Given the description of an element on the screen output the (x, y) to click on. 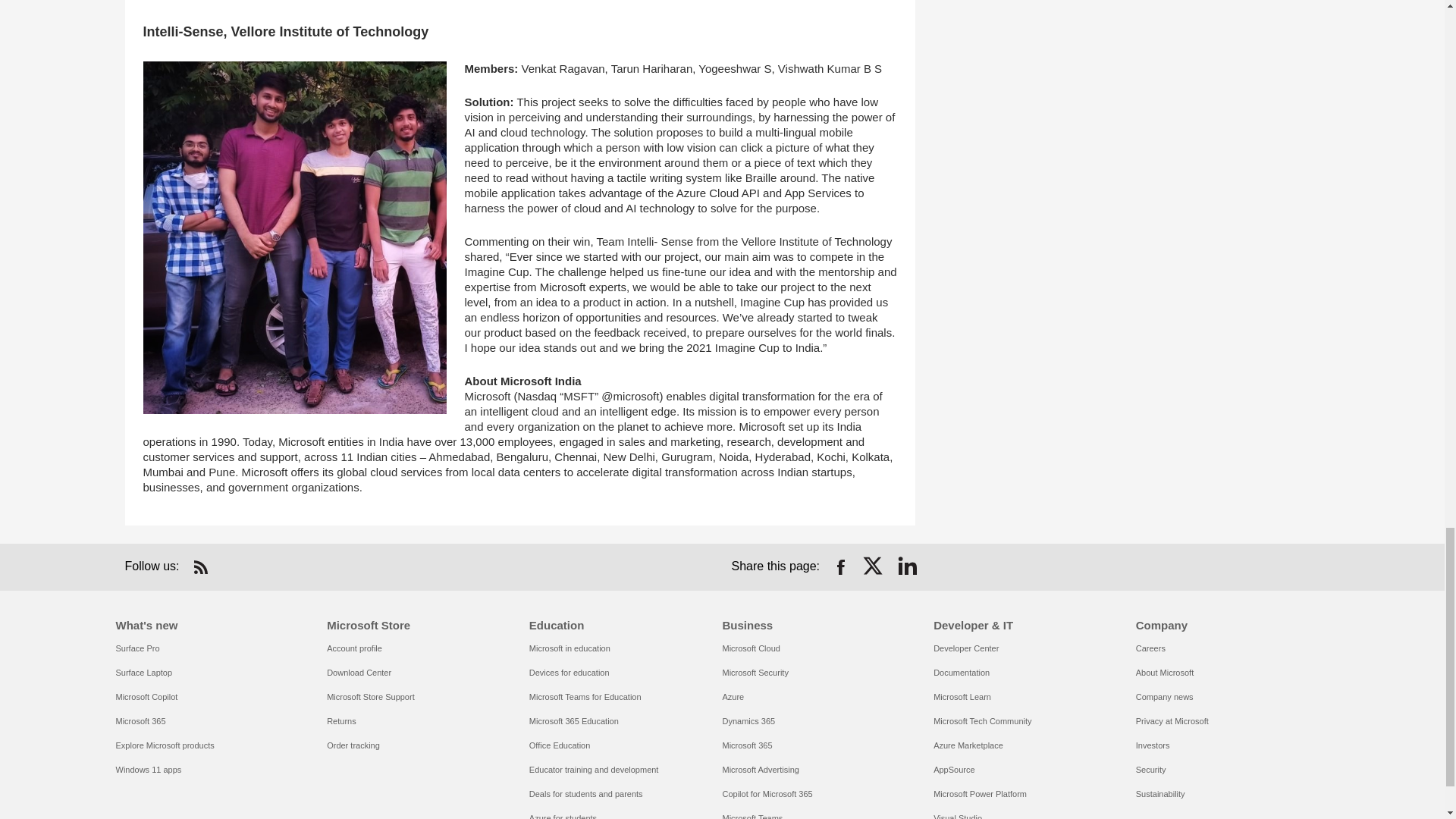
Share on LinkedIn (907, 567)
RSS Subscription (200, 567)
Share on Facebook (840, 567)
Share on Twitter (873, 567)
